Given the description of an element on the screen output the (x, y) to click on. 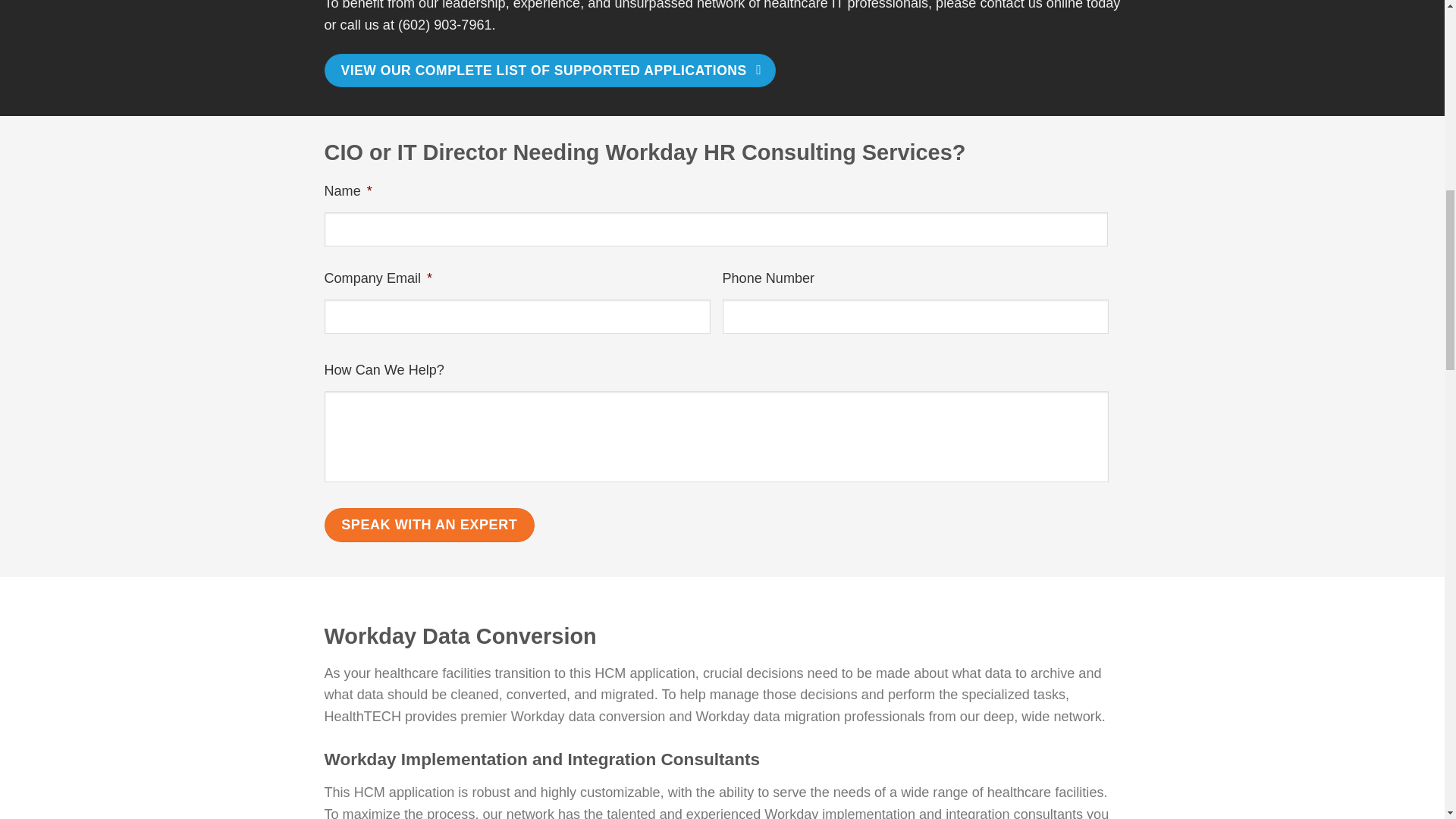
contact us (1010, 5)
VIEW OUR COMPLETE LIST OF SUPPORTED APPLICATIONS (550, 70)
Speak with an Expert (429, 524)
